Given the description of an element on the screen output the (x, y) to click on. 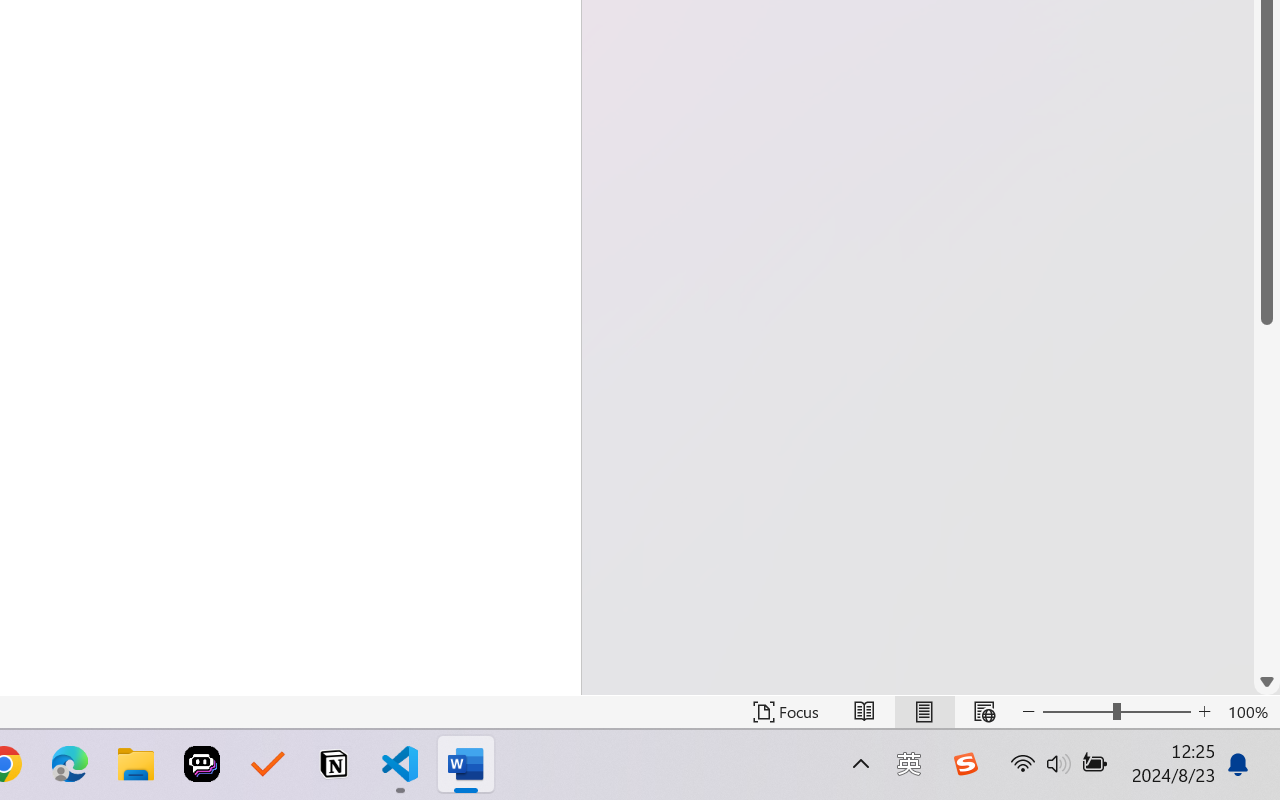
Zoom 100% (1249, 712)
